Given the description of an element on the screen output the (x, y) to click on. 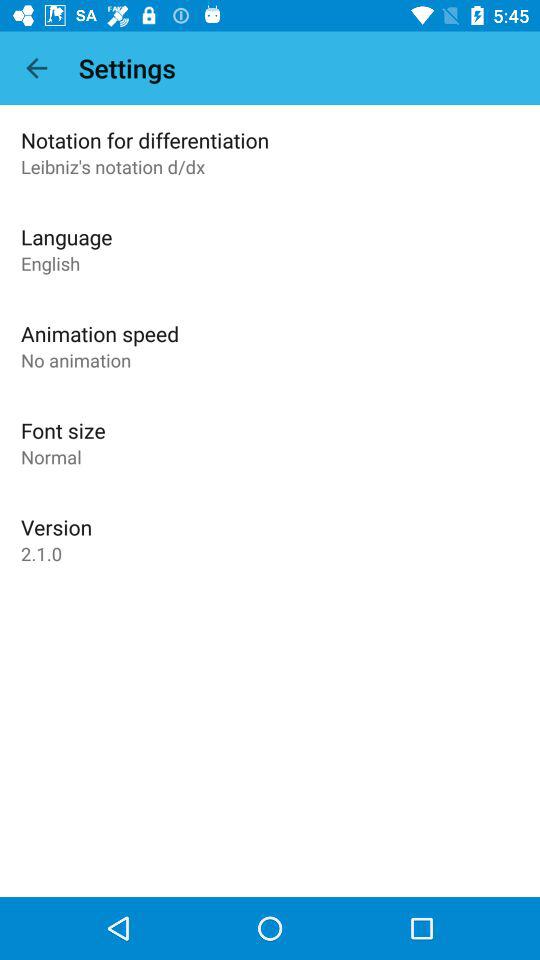
scroll to notation for differentiation icon (145, 139)
